Given the description of an element on the screen output the (x, y) to click on. 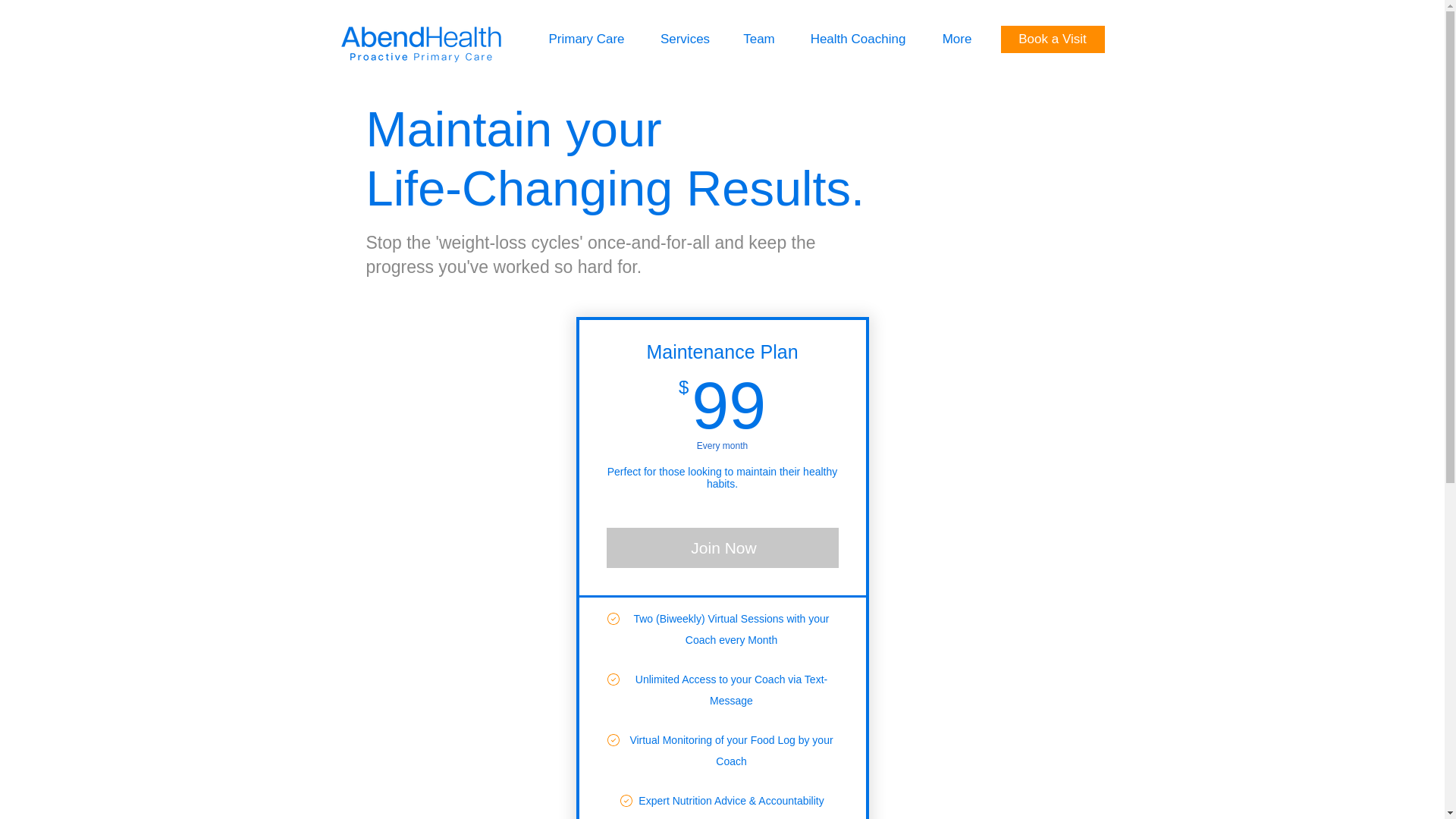
Join Now (722, 547)
Book a Visit (1053, 39)
Health Coaching (857, 39)
Primary Care (587, 39)
Team (759, 39)
